Given the description of an element on the screen output the (x, y) to click on. 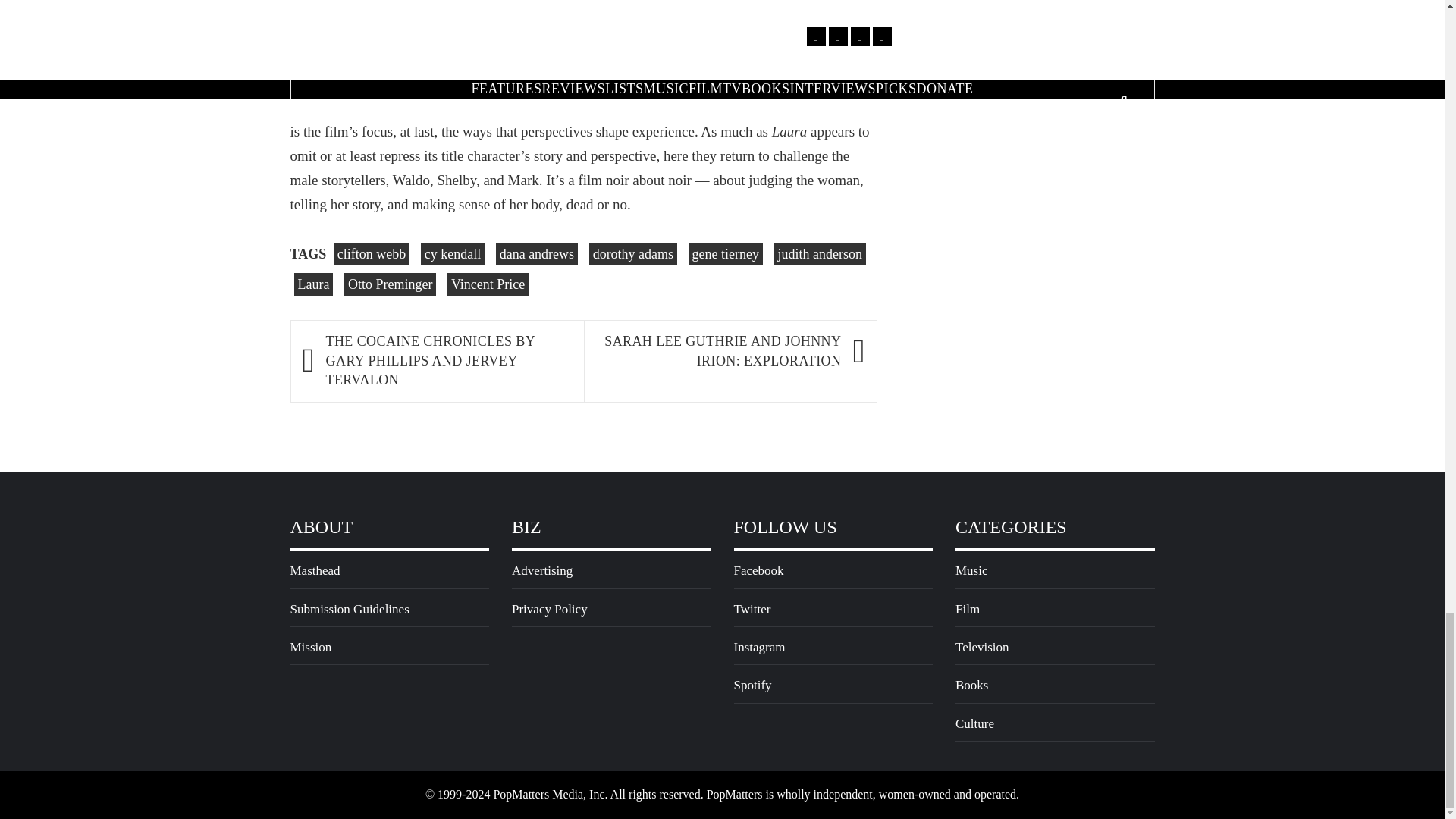
Laura (313, 283)
THE COCAINE CHRONICLES BY GARY PHILLIPS AND JERVEY TERVALON (446, 361)
dorothy adams (633, 253)
judith anderson (820, 253)
SARAH LEE GUTHRIE AND JOHNNY IRION: EXPLORATION (718, 351)
Otto Preminger (389, 283)
gene tierney (725, 253)
clifton webb (371, 253)
cy kendall (452, 253)
Vincent Price (487, 283)
dana andrews (537, 253)
